Given the description of an element on the screen output the (x, y) to click on. 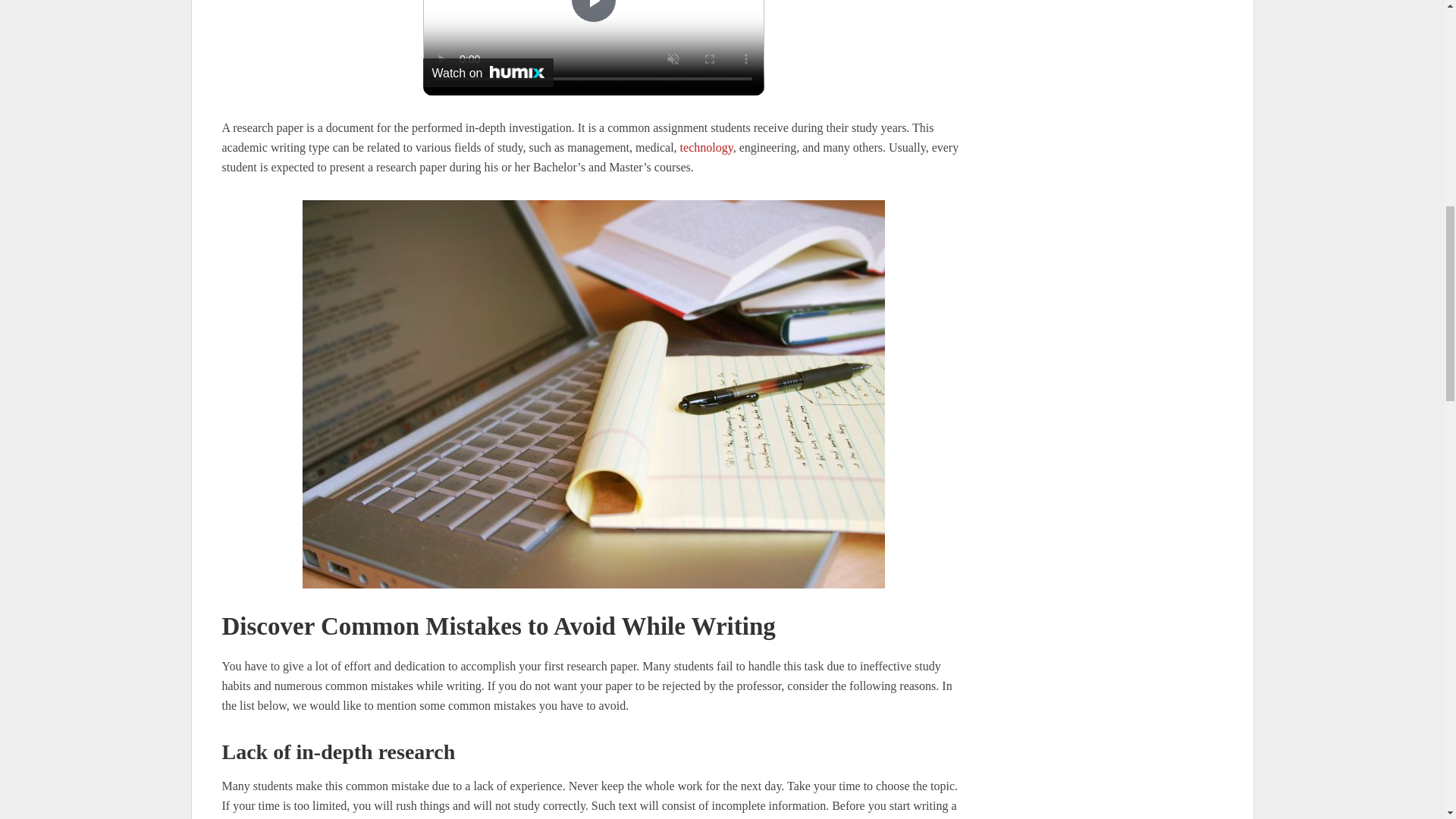
Play Video (592, 11)
Play Video (592, 11)
